Given the description of an element on the screen output the (x, y) to click on. 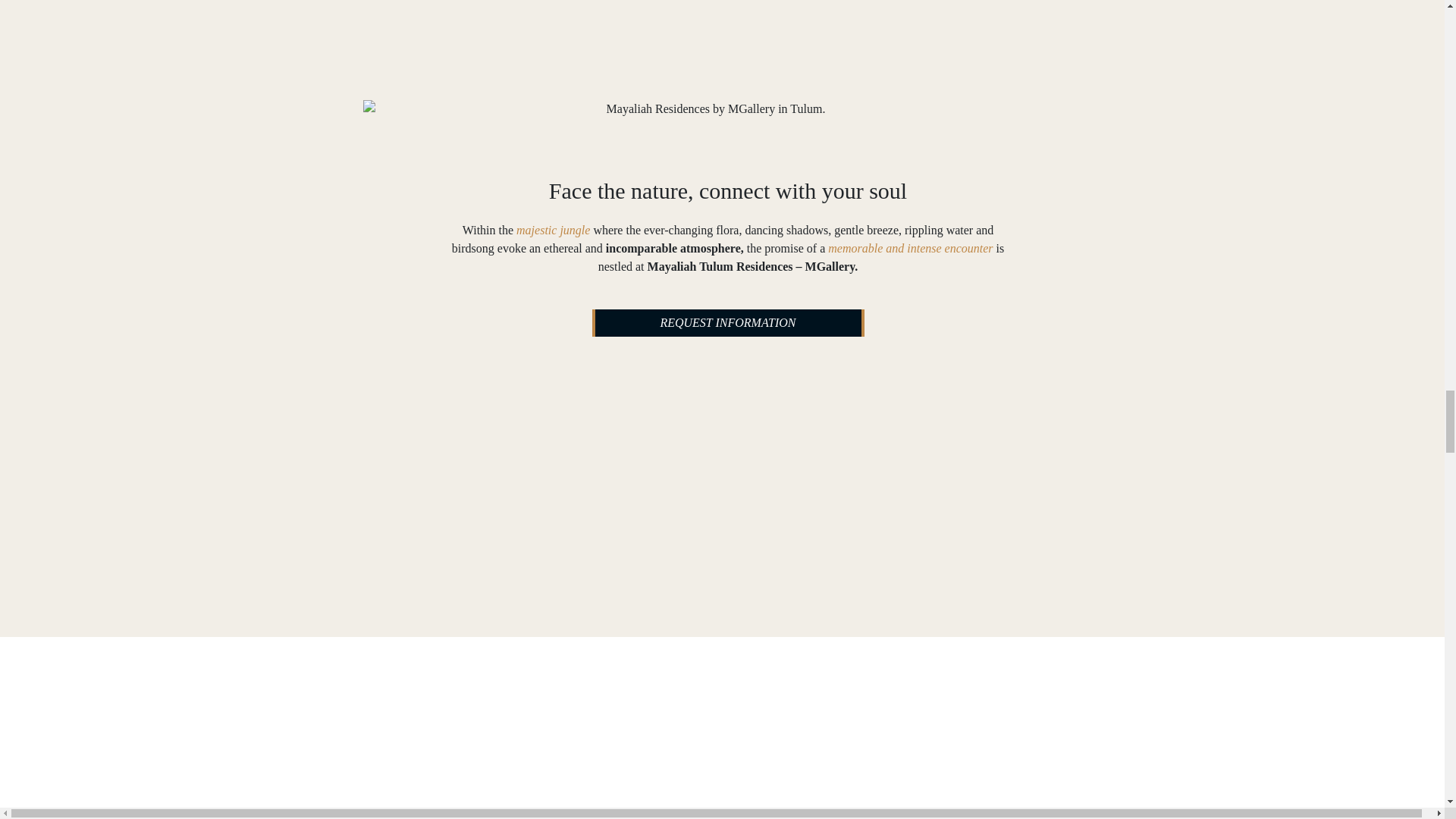
REQUEST INFORMATION (727, 322)
